Given the description of an element on the screen output the (x, y) to click on. 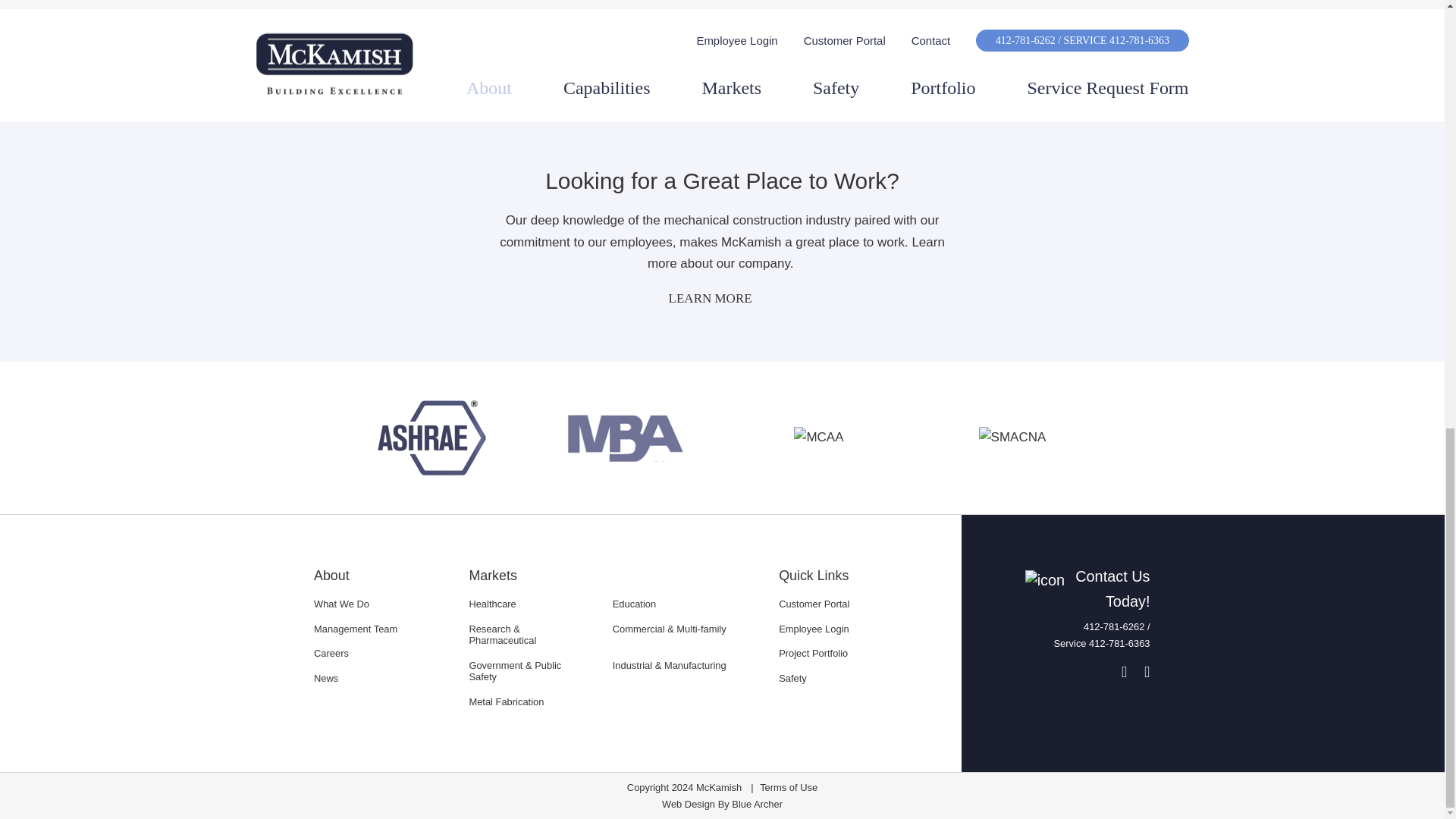
Contact Us (1080, 589)
